Given the description of an element on the screen output the (x, y) to click on. 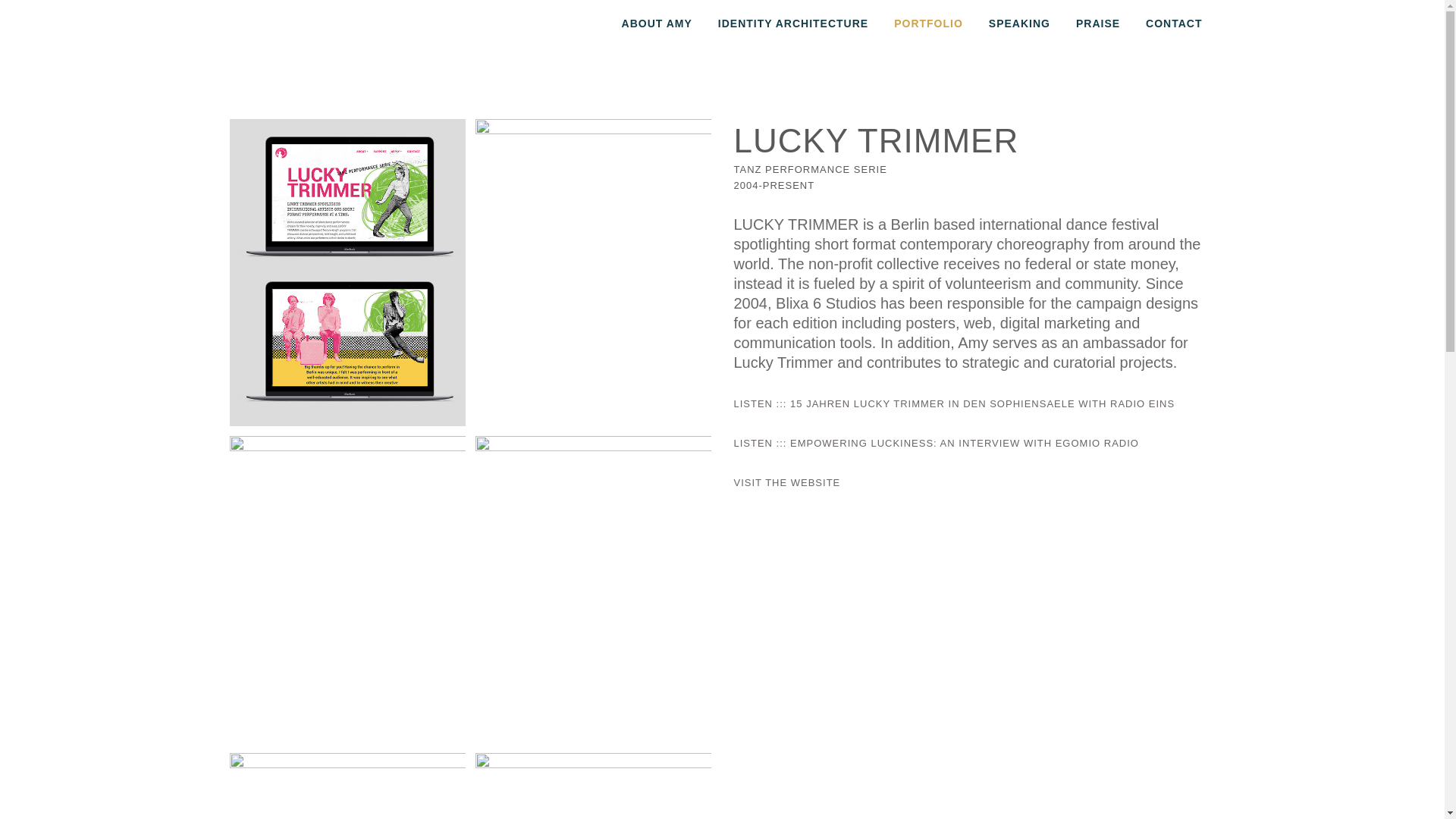
VISIT THE WEBSITE (787, 482)
PRAISE (1097, 23)
IDENTITY ARCHITECTURE (792, 23)
ABOUT AMY (656, 23)
SPEAKING (1018, 23)
PORTFOLIO (927, 23)
CONTACT (1173, 23)
